Given the description of an element on the screen output the (x, y) to click on. 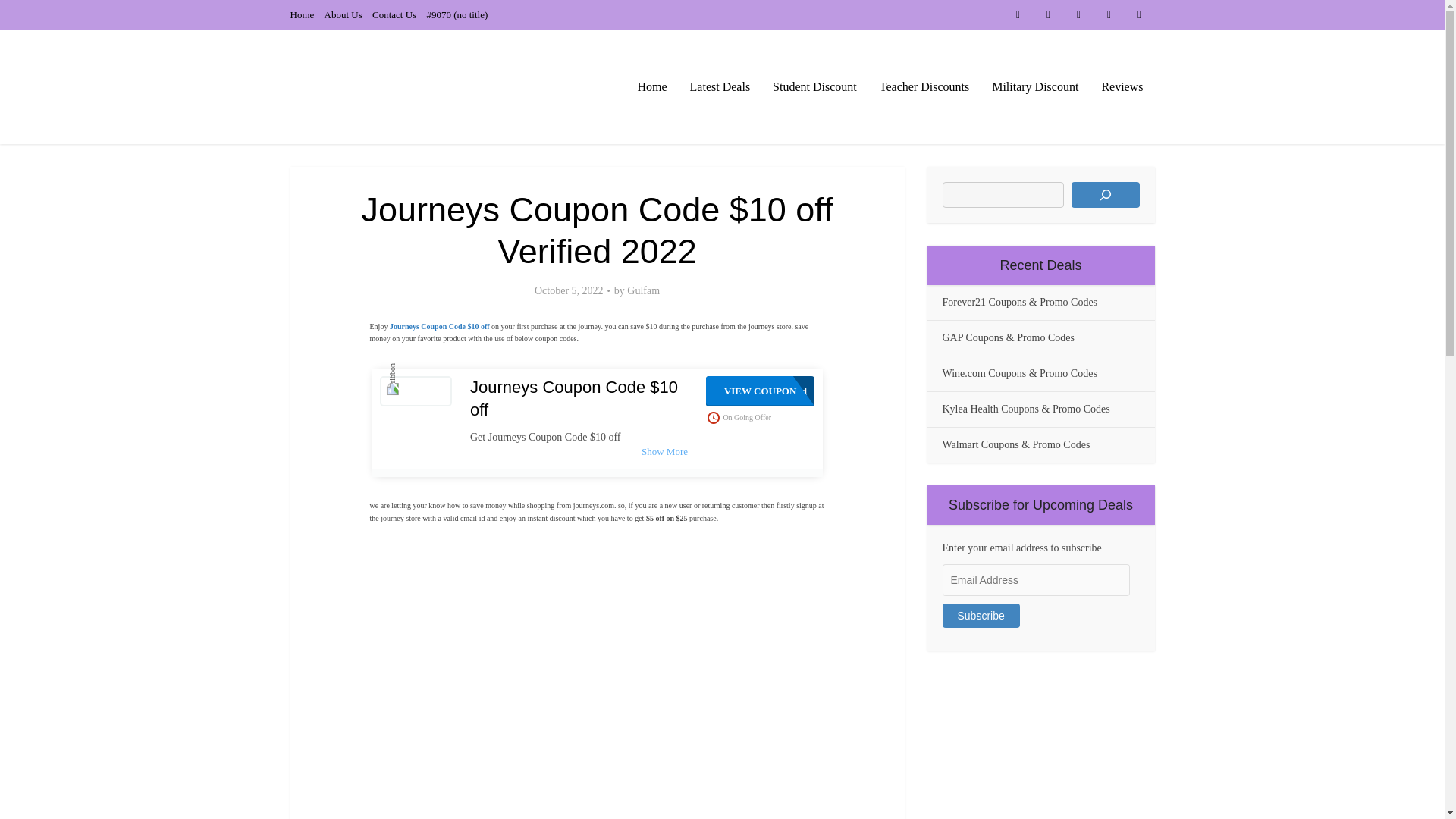
Gulfam (643, 291)
About Us (343, 14)
Subscribe (980, 615)
Home (301, 14)
Military Discount (1034, 87)
Teacher Discounts (923, 87)
Student Discount (814, 87)
Contact Us (394, 14)
